Given the description of an element on the screen output the (x, y) to click on. 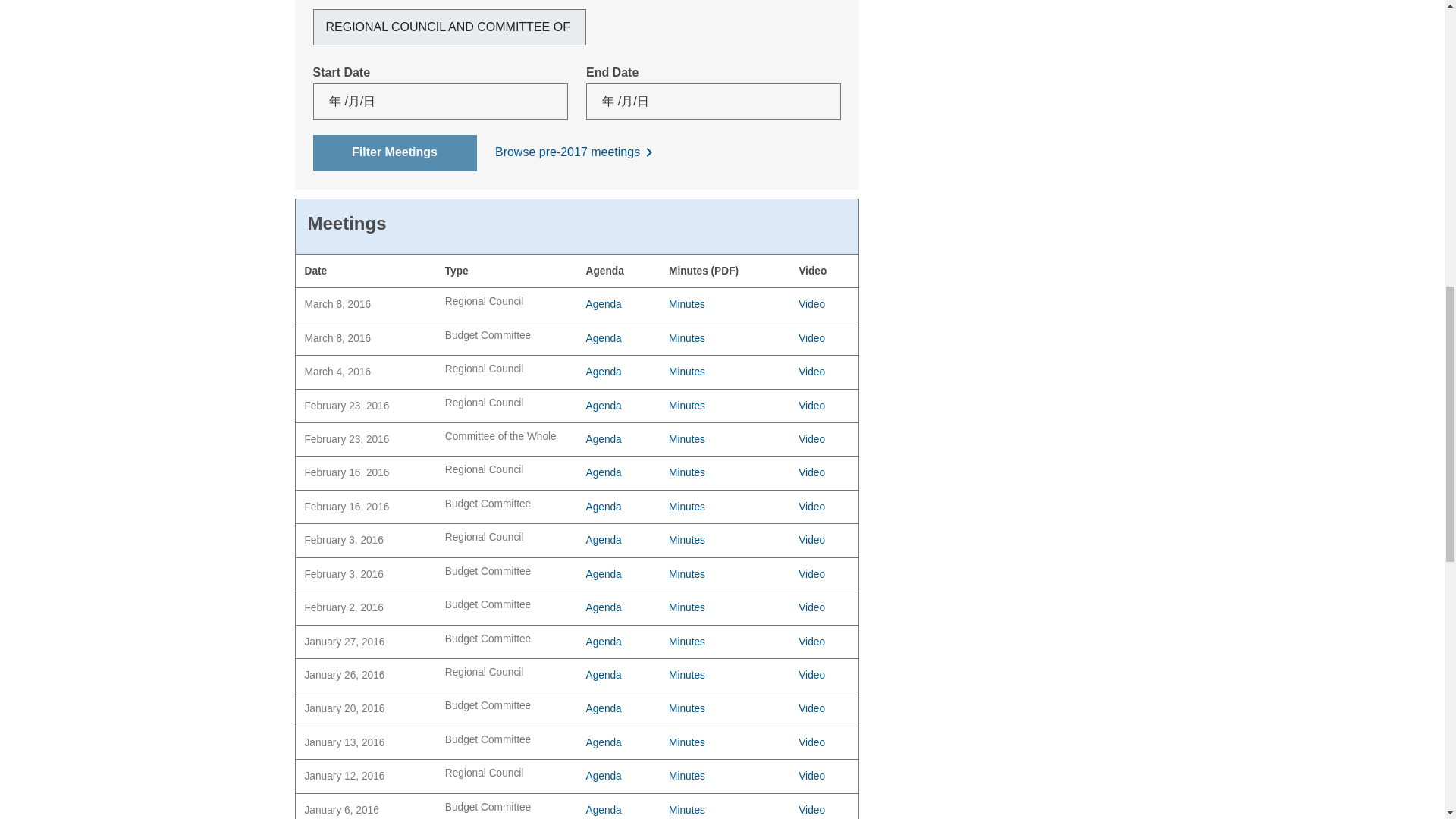
February 3, 2016 Committee of the Whole - Budget Video (822, 574)
January 12, 2016 Regional Council Video (822, 775)
February 3, 2016 Regional Council Video (822, 539)
March 8, 2016 Committee of the Whole-Budget Video (822, 338)
February 23, 2016 Regional Council Video (822, 405)
March 4, 2016 Regional Council Video (822, 371)
March 8, 2016 Regional Council Video (822, 304)
Filter Meetings (394, 153)
January 27, 2016 Committee of the Whole - Budget Video (822, 641)
February 16, 2016 Committee of the Whole - Budget Video (822, 506)
